Given the description of an element on the screen output the (x, y) to click on. 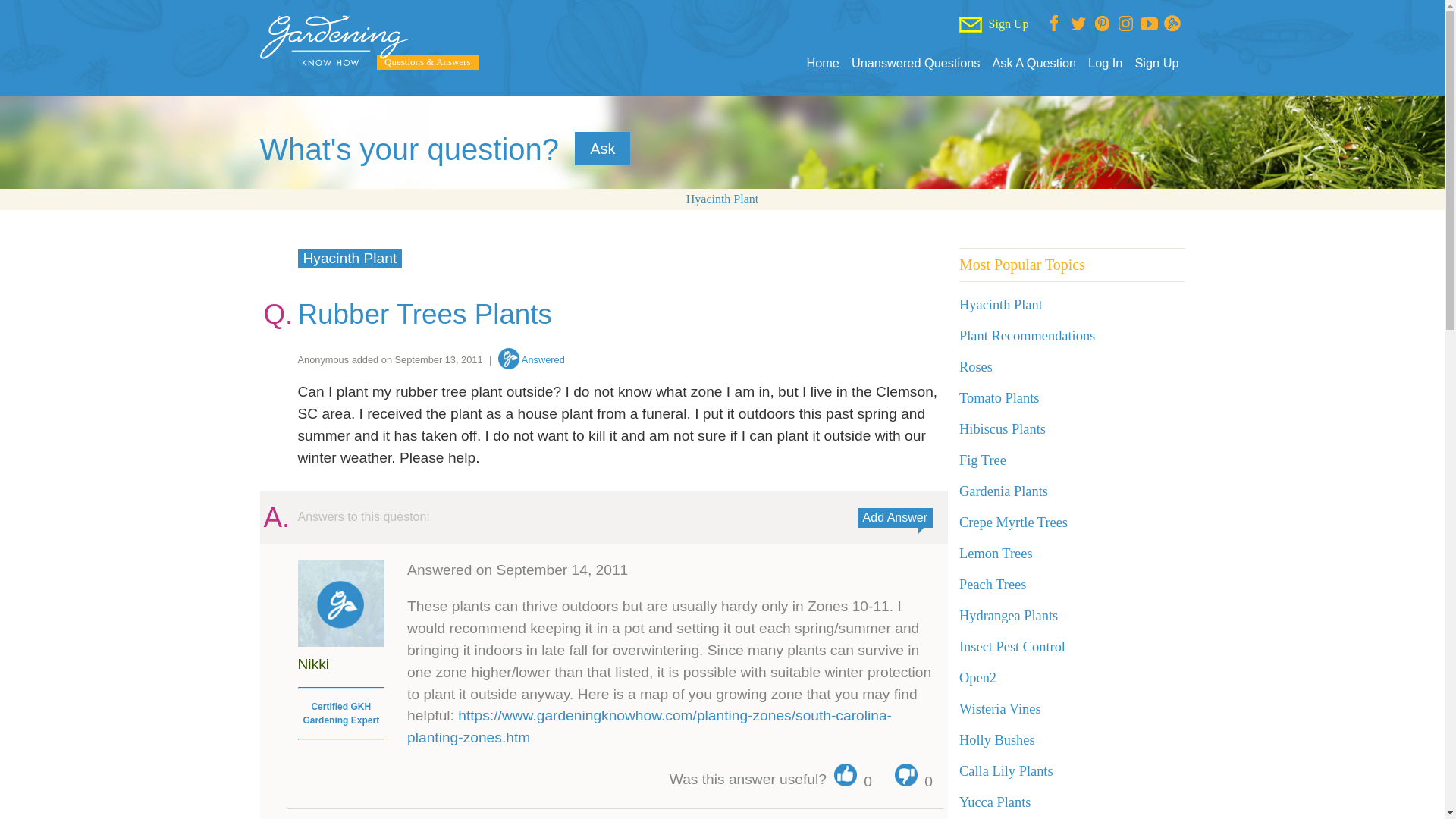
Ask A Question (1033, 62)
Gardenia Plants (1003, 491)
Tomato Plants (999, 397)
Insect Pest Control (1012, 646)
Hibiscus Plants (1002, 428)
Peach Trees (992, 584)
Plant Recommendations (1026, 335)
Fig Tree (982, 459)
Hyacinth Plant (721, 198)
Hyacinth Plant (721, 198)
